Given the description of an element on the screen output the (x, y) to click on. 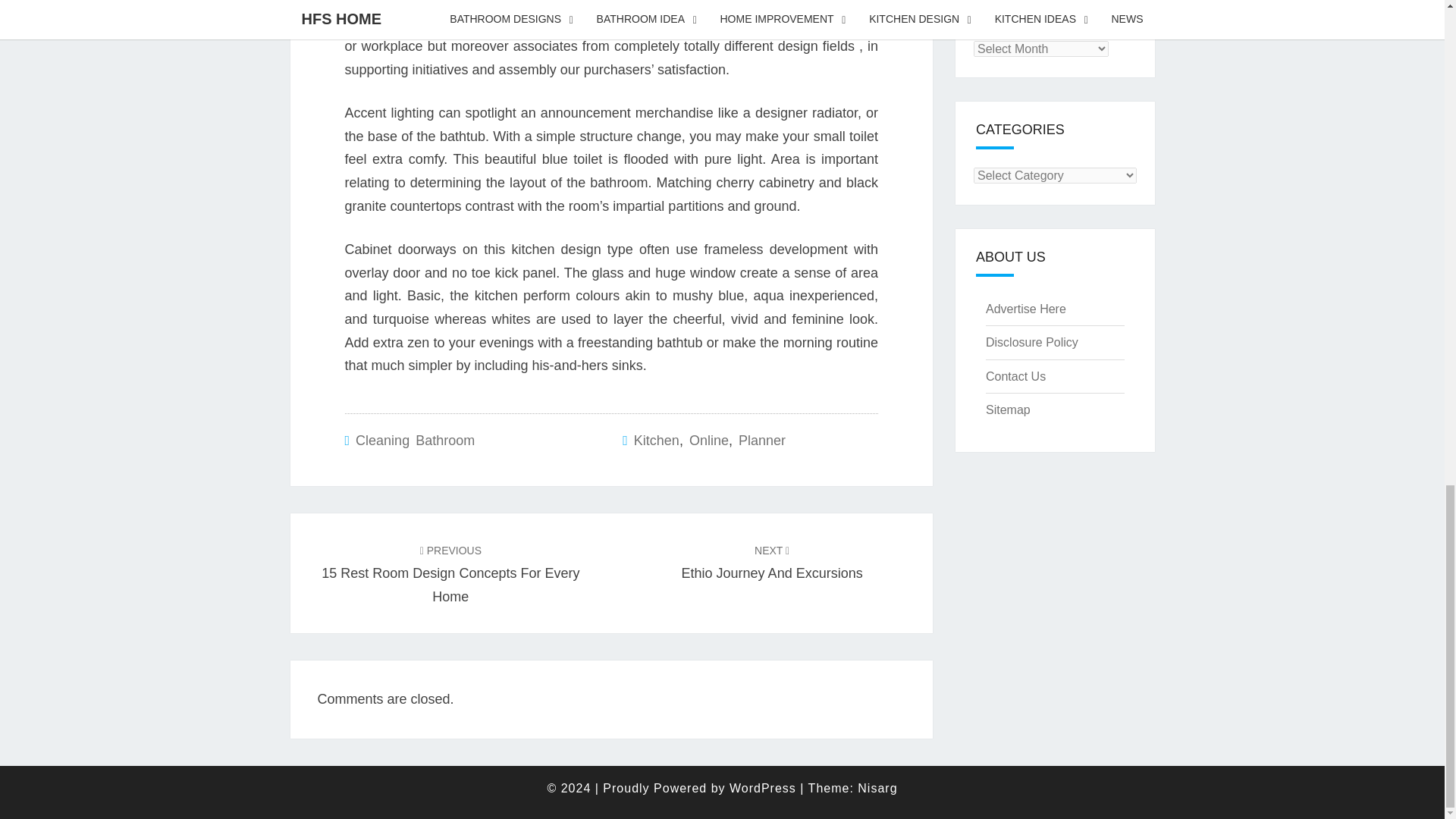
Online (708, 440)
Cleaning Bathroom (414, 440)
Kitchen (656, 440)
Planner (762, 440)
